Given the description of an element on the screen output the (x, y) to click on. 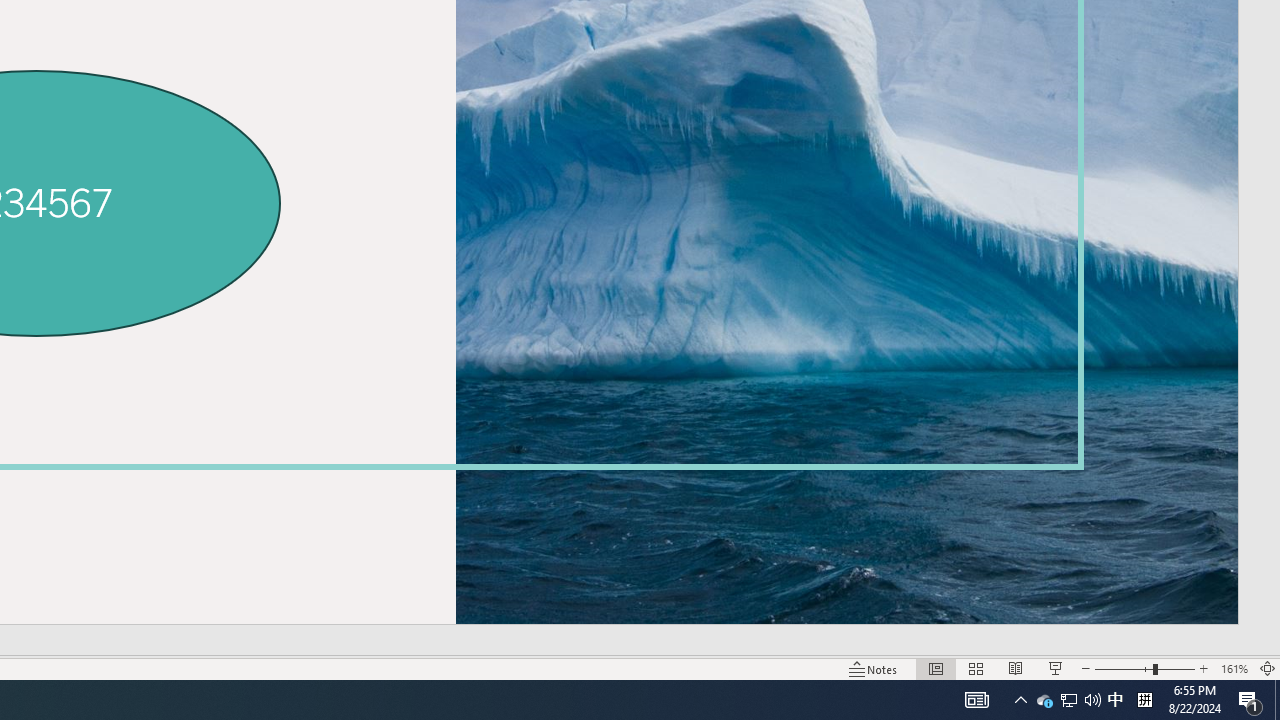
Zoom 161% (1234, 668)
